Given the description of an element on the screen output the (x, y) to click on. 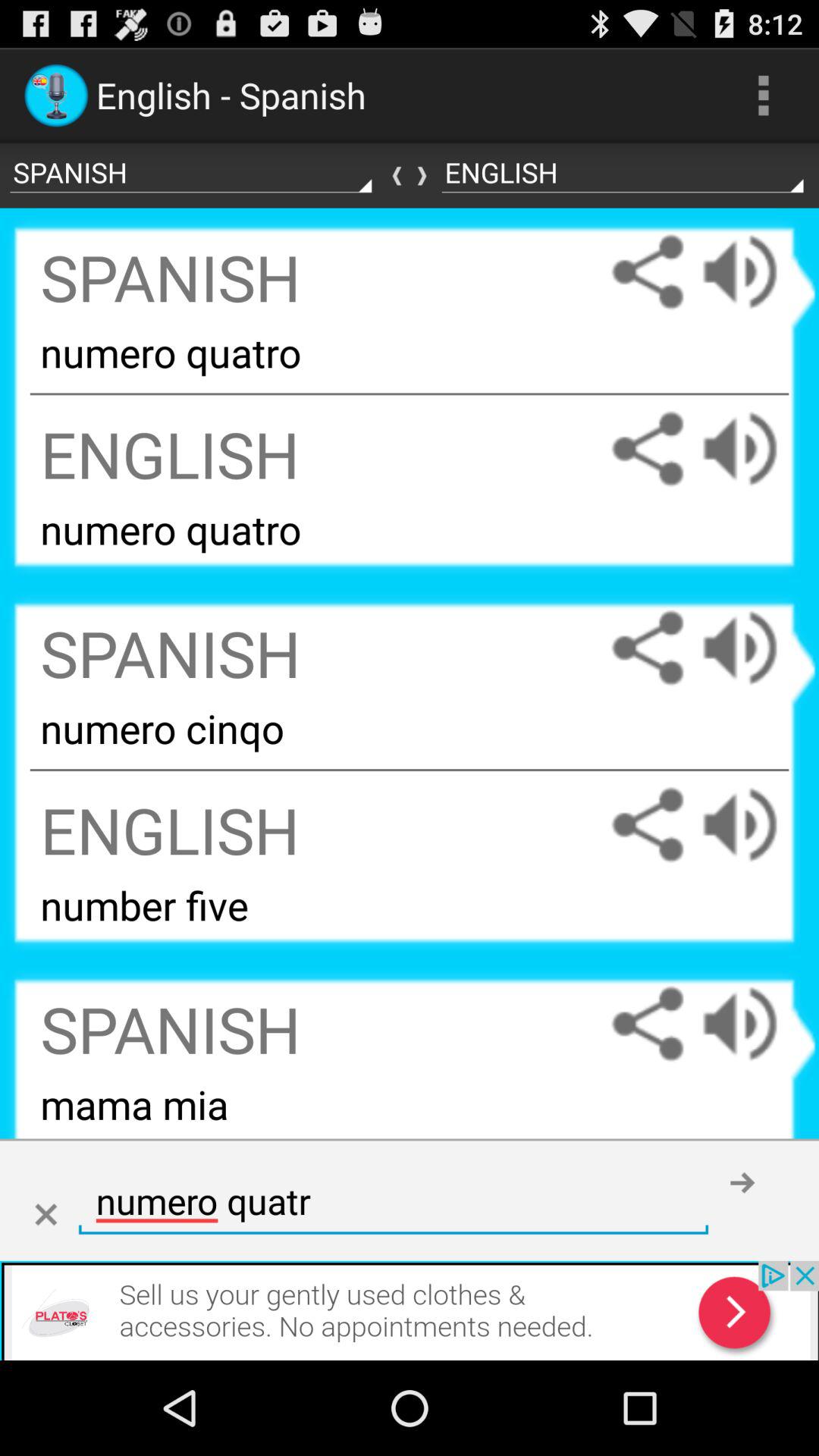
enter (742, 1182)
